Given the description of an element on the screen output the (x, y) to click on. 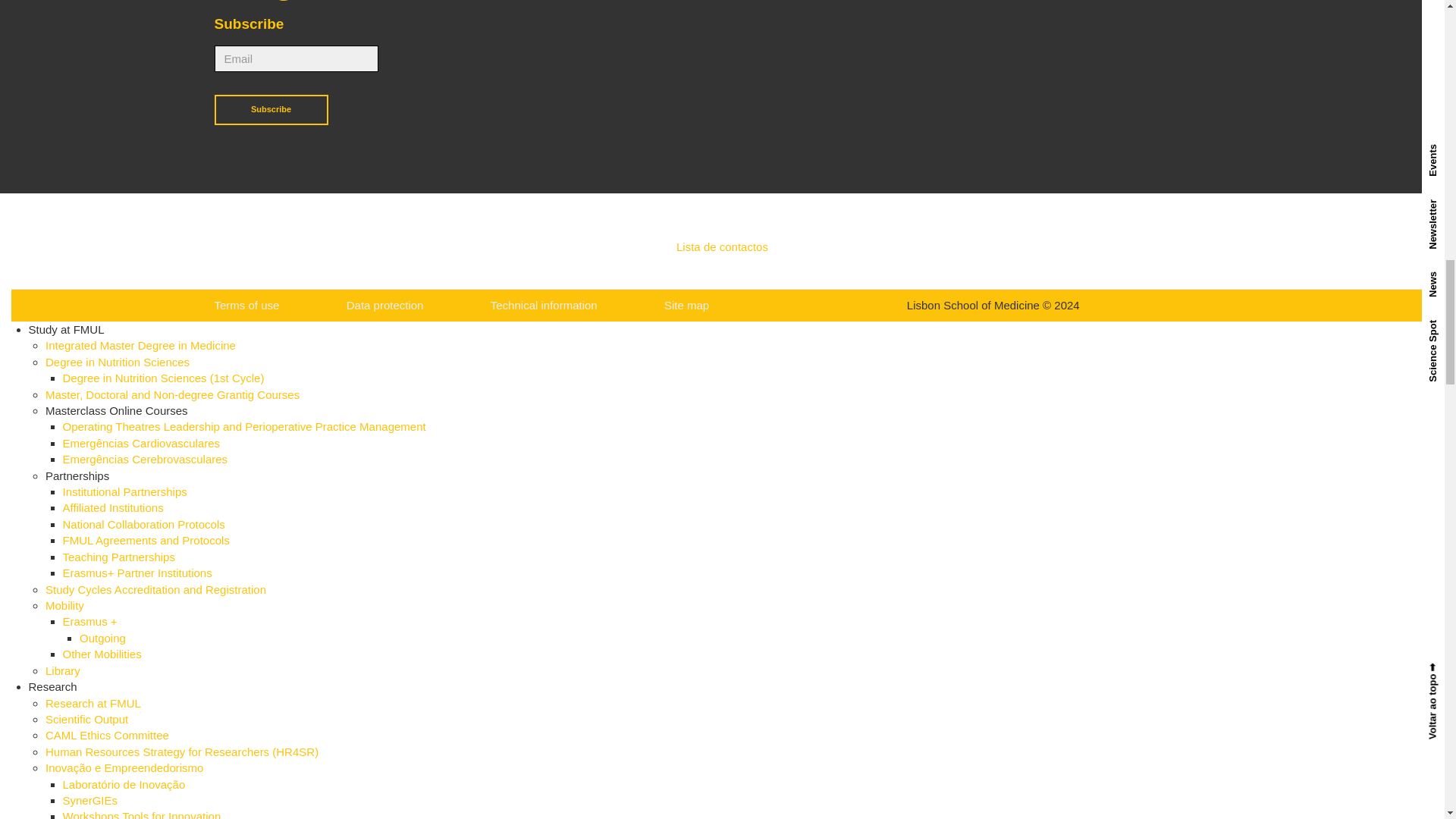
Lista de contactos (722, 246)
Subscribe (270, 110)
Degree in Nutrition Sciences (117, 361)
Site map (686, 304)
Integrated Master Degree in Medicine (140, 345)
Technical information (543, 304)
Data protection (384, 304)
Terms of use (246, 304)
The subscriber's email address. (295, 58)
Master, Doctoral and Non-degree Grantig Courses (172, 394)
